Given the description of an element on the screen output the (x, y) to click on. 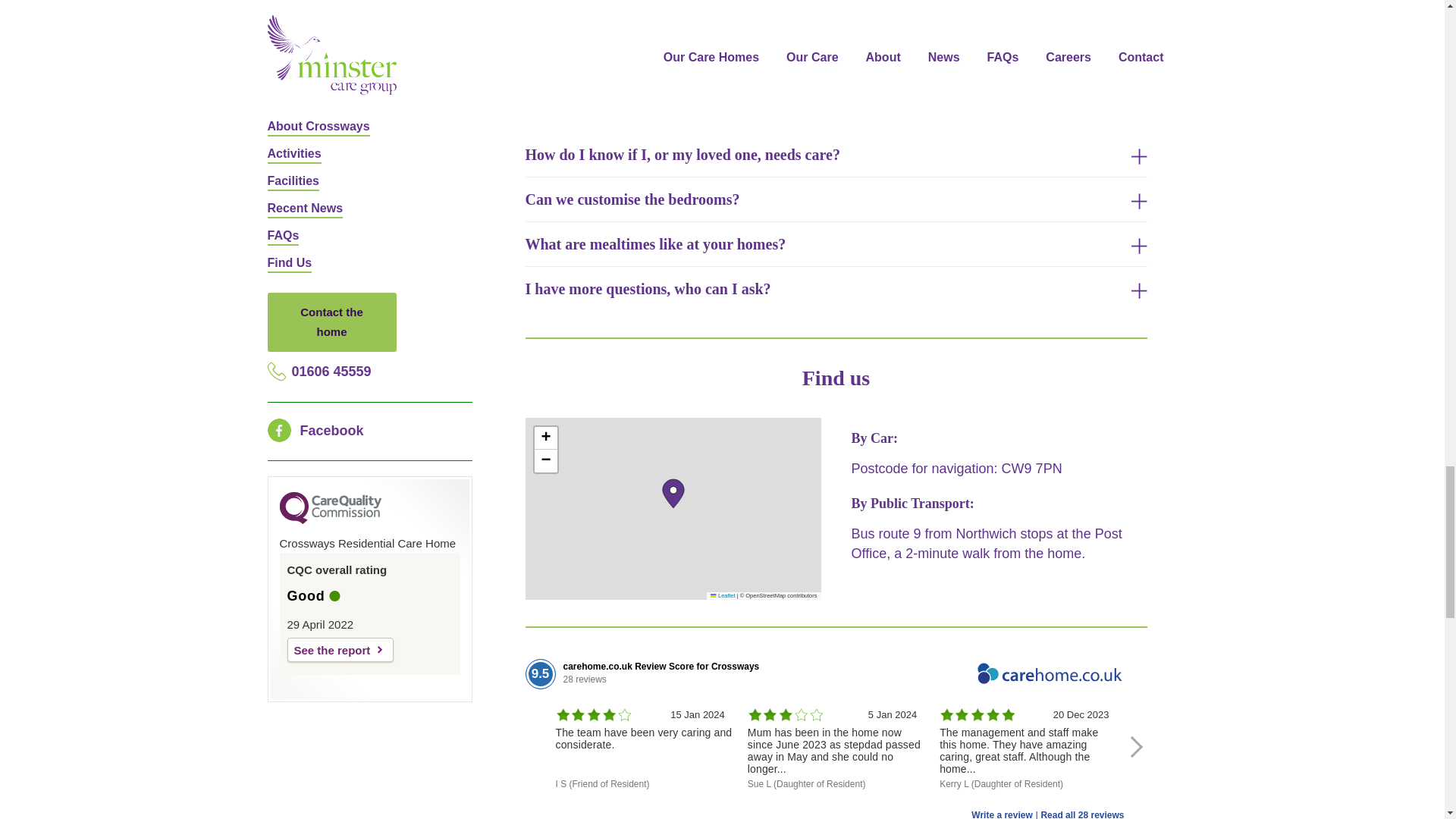
Search (1111, 91)
Zoom in (545, 437)
A JavaScript library for interactive maps (722, 595)
Zoom out (545, 460)
